Given the description of an element on the screen output the (x, y) to click on. 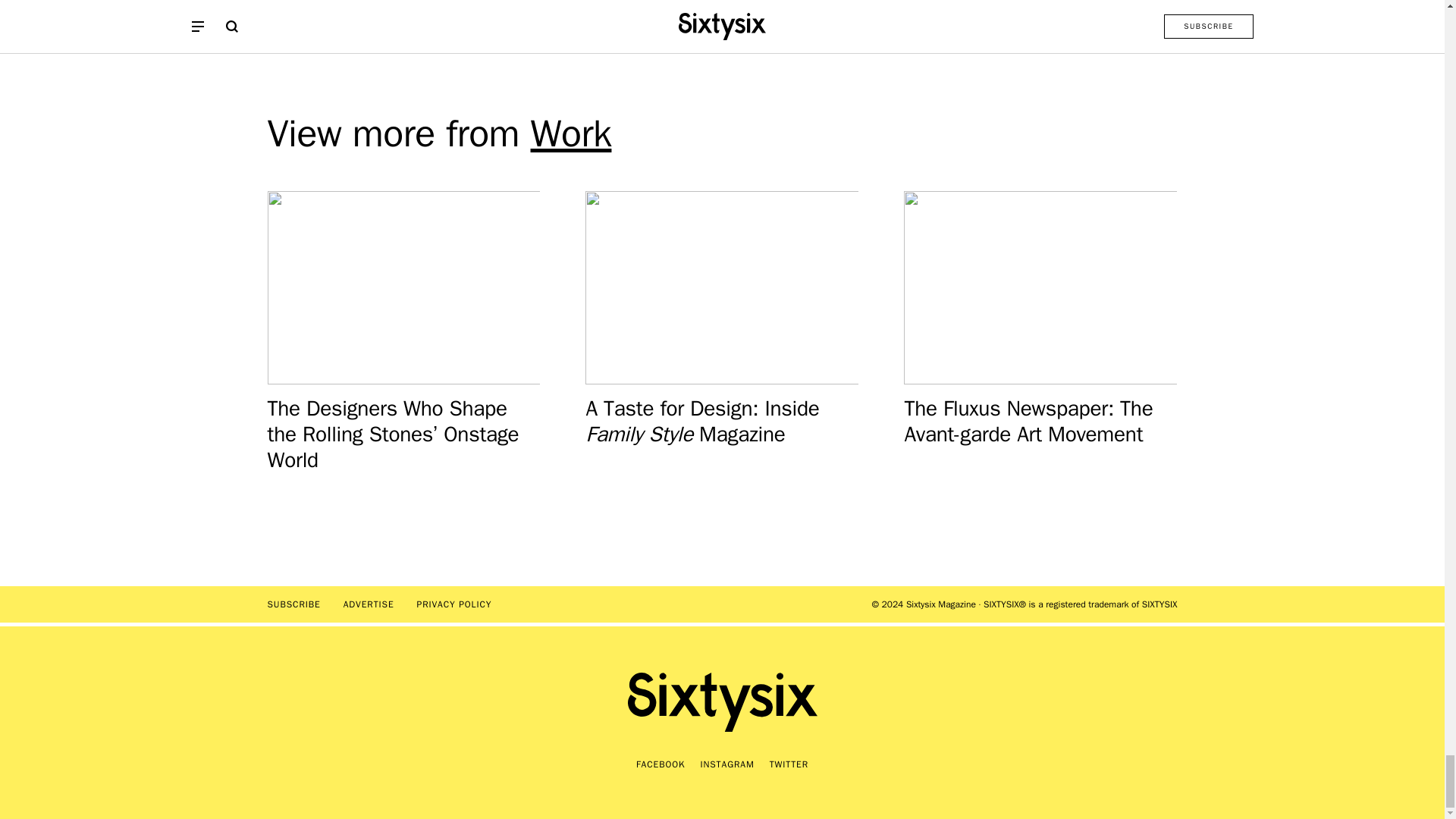
INSTAGRAM (727, 764)
The Fluxus Newspaper: The Avant-garde Art Movement (1024, 331)
Work (571, 134)
TWITTER (789, 764)
SUBSCRIBE (293, 604)
AUTOMOTIVE (523, 13)
ADVERTISE (368, 604)
PRIVACY POLICY (454, 604)
Sixtysix Magazine (721, 701)
A Taste for Design: Inside Family Style Magazine (721, 331)
